Given the description of an element on the screen output the (x, y) to click on. 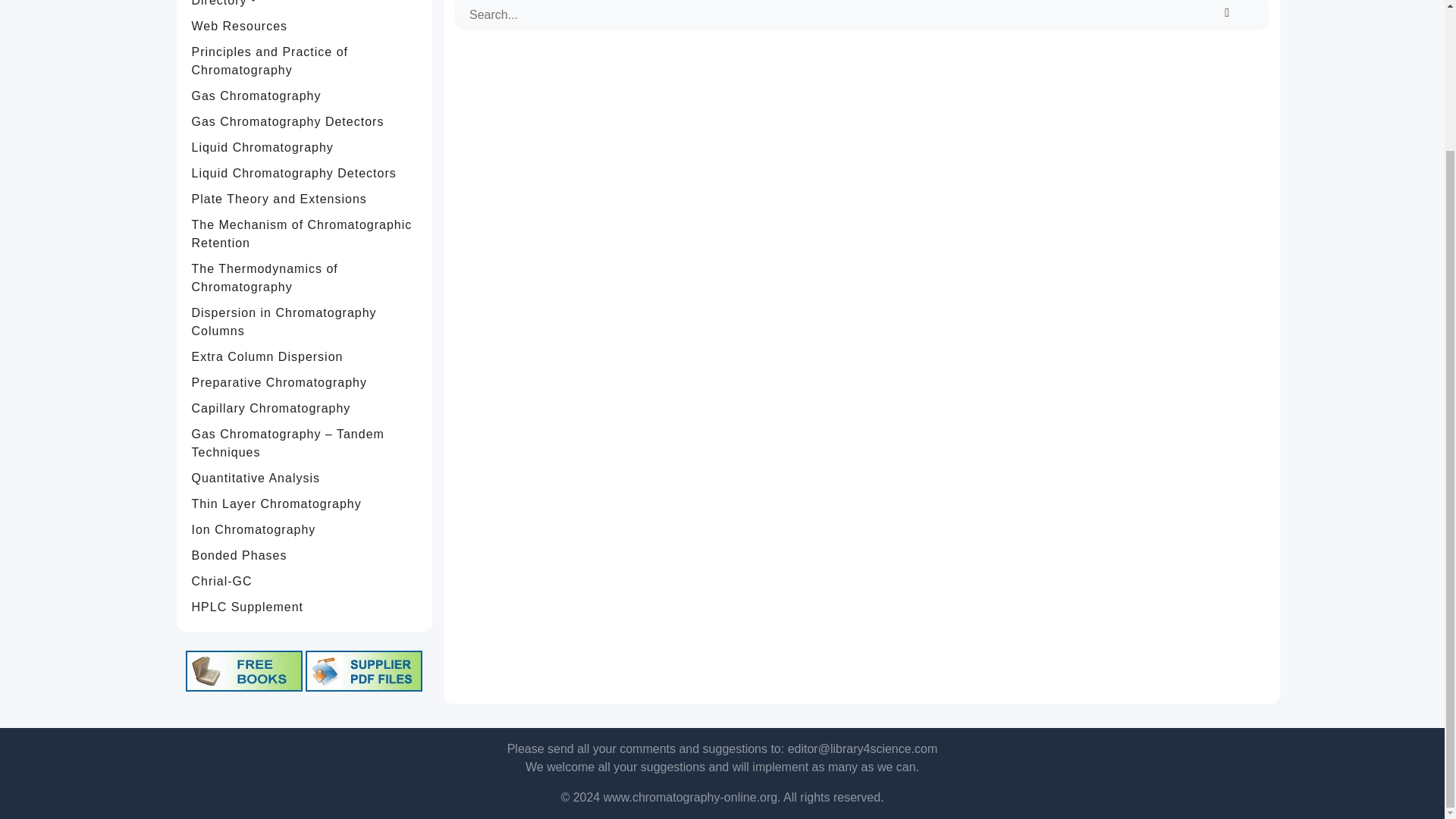
Thin Layer Chromatography (304, 503)
Chrial-GC (304, 581)
Liquid Chromatography Detectors (304, 173)
Quantitative Analysis (304, 478)
Free Books (244, 670)
Liquid Chromatography (304, 147)
Plate Theory and Extensions (304, 199)
Web Resources (304, 26)
The Thermodynamics of Chromatography (304, 278)
The Mechanism of Chromatographic Retention (304, 234)
Free Brochures (363, 670)
Capillary Chromatography (304, 408)
Gas Chromatography Detectors (304, 121)
Principles and Practice of Chromatography (304, 61)
Bonded Phases (304, 555)
